Given the description of an element on the screen output the (x, y) to click on. 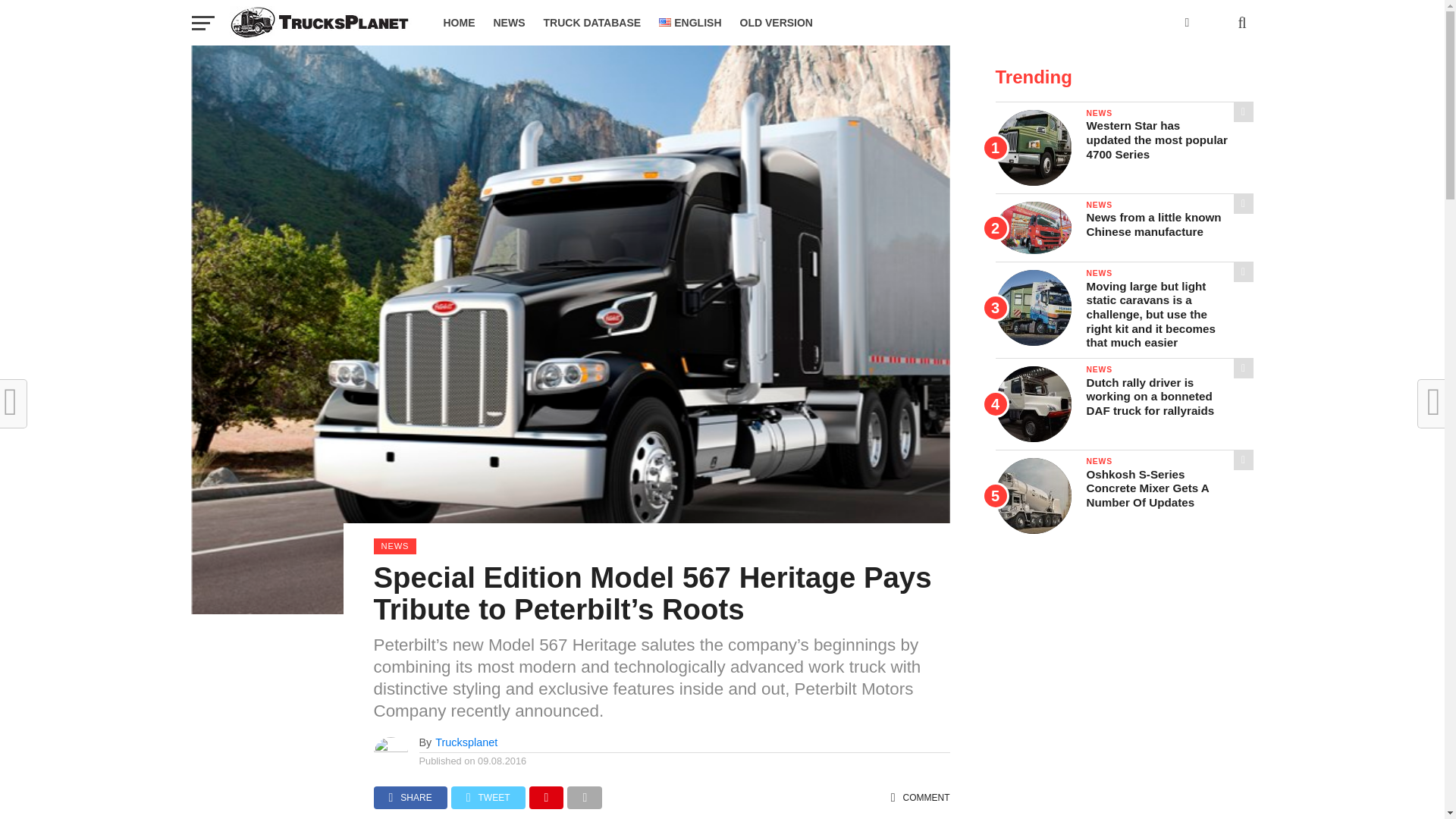
NEWS (508, 22)
Posts by Trucksplanet (466, 742)
ENGLISH (689, 22)
Trucksplanet (466, 742)
HOME (458, 22)
OLD VERSION (776, 22)
TRUCK DATABASE (591, 22)
